Given the description of an element on the screen output the (x, y) to click on. 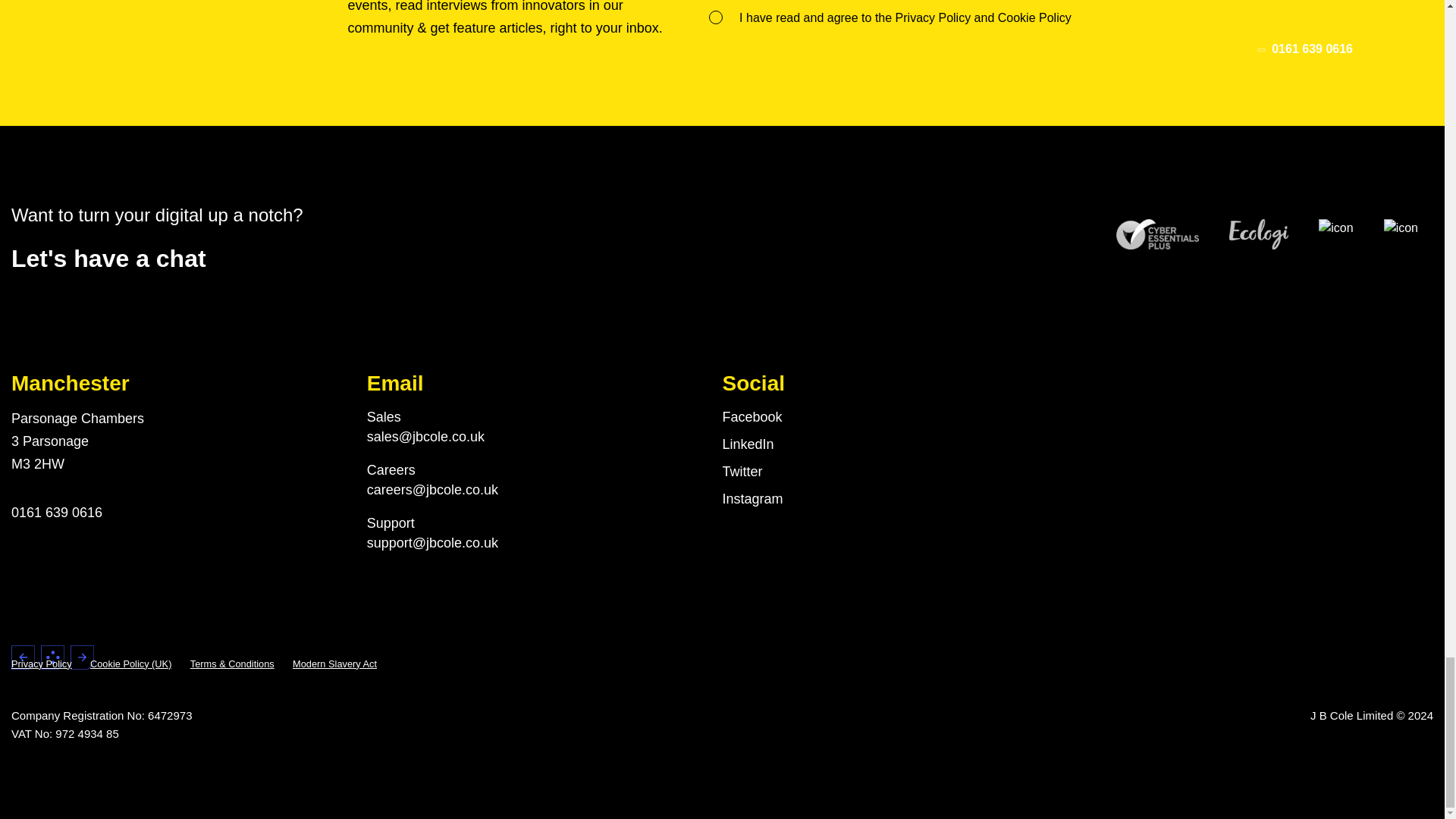
Modern Slavery Act (334, 663)
Privacy Policy (933, 17)
Instagram (752, 498)
Cookie Policy (1034, 17)
LinkedIn (747, 443)
Twitter (741, 470)
Privacy Policy (41, 663)
Facebook (751, 416)
0161 639 0616 (56, 511)
